Given the description of an element on the screen output the (x, y) to click on. 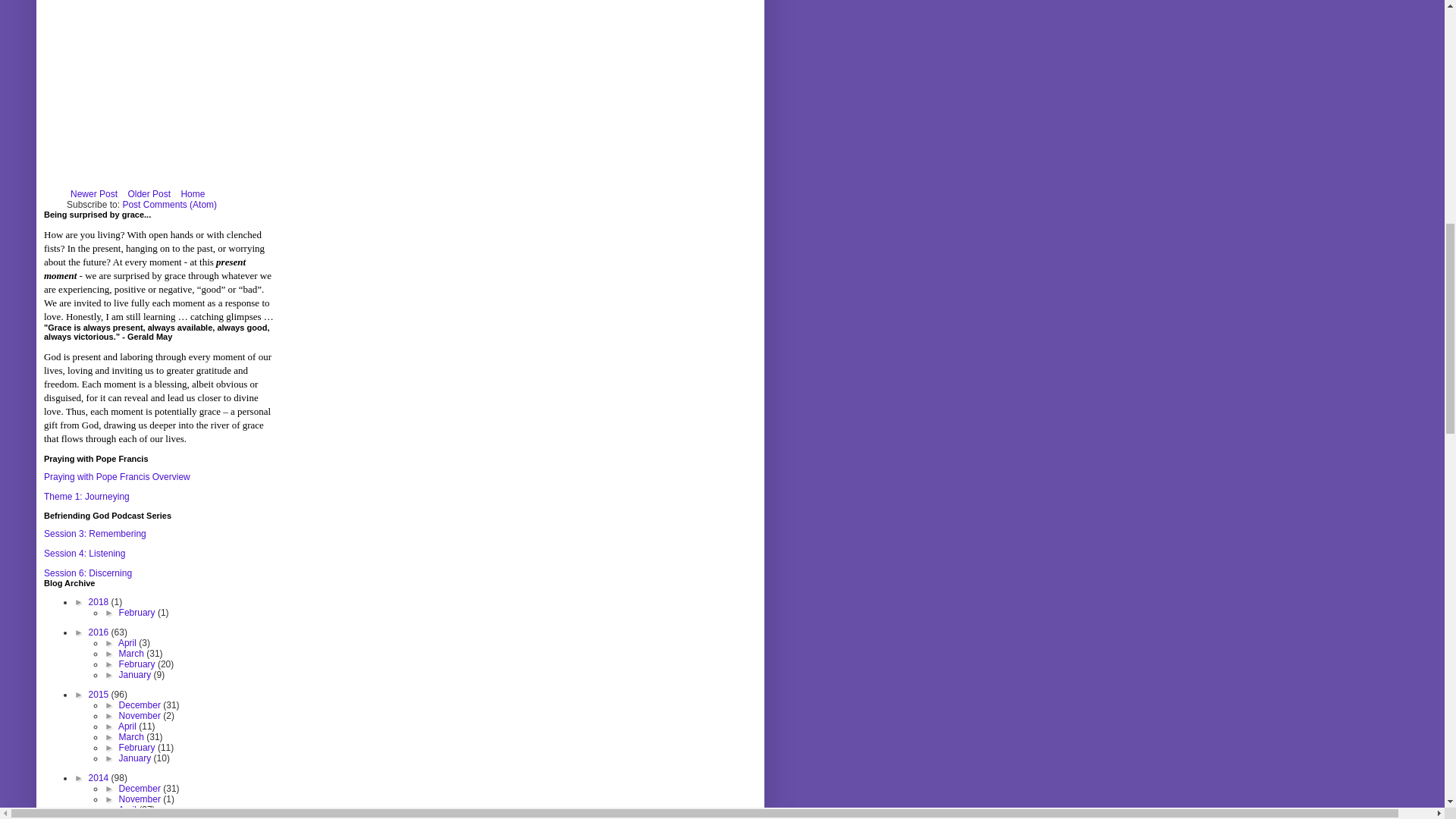
2015 (100, 694)
Older Post (148, 194)
Newer Post (93, 194)
Theme 1: Journeying (86, 496)
April (127, 726)
2016 (100, 632)
2018 (100, 602)
Home (192, 194)
Session 4: Listening (84, 552)
February (138, 612)
Praying with Pope Francis Overview (116, 476)
April (127, 643)
December (141, 705)
Session 3: Remembering (95, 533)
Older Post (148, 194)
